Given the description of an element on the screen output the (x, y) to click on. 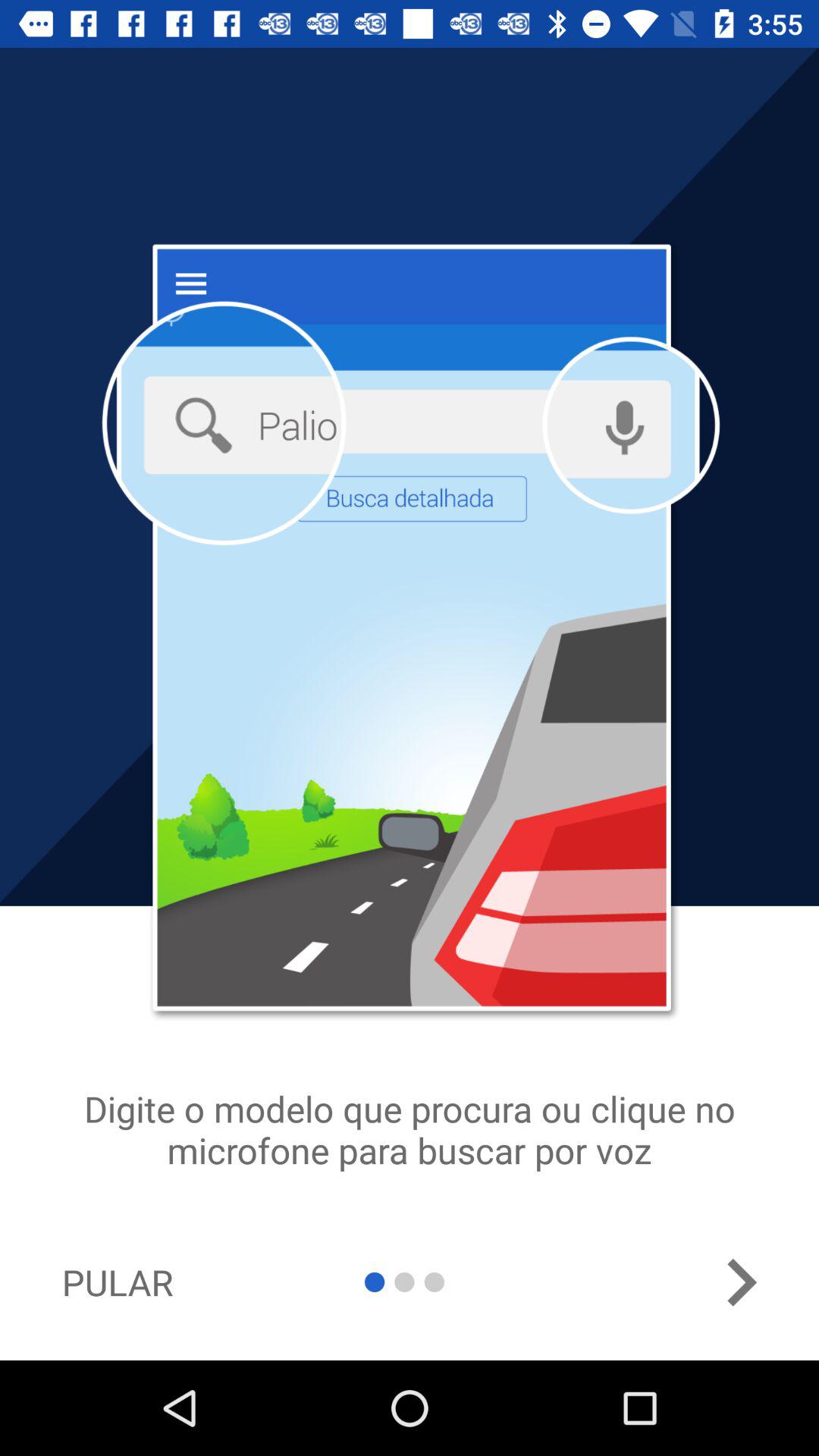
tap pular (117, 1282)
